Given the description of an element on the screen output the (x, y) to click on. 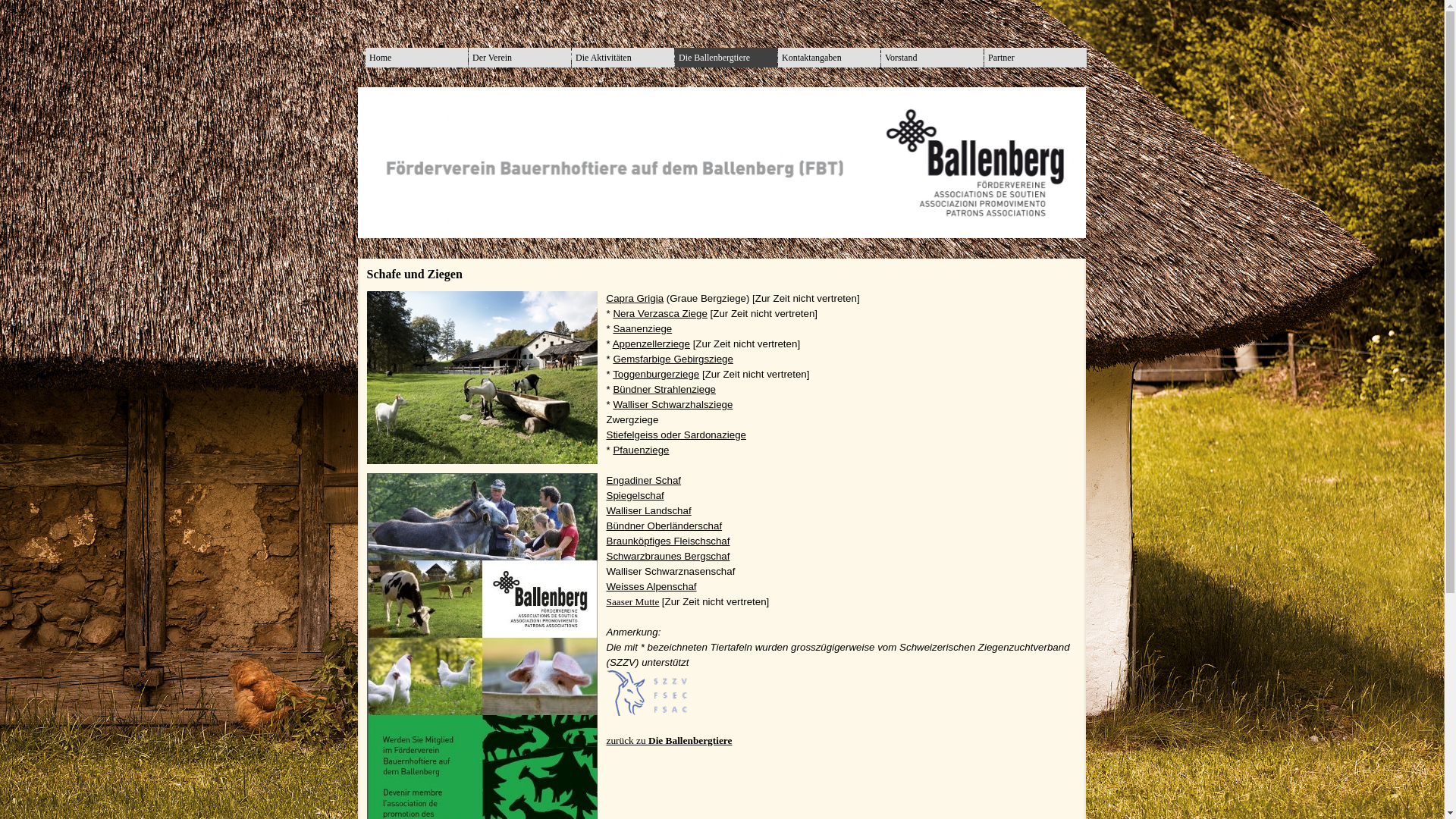
Gemsfarbige Gebirgsziege Element type: text (672, 358)
Pfauenziege Element type: text (640, 449)
Weisses Alpenschaf Element type: text (651, 586)
Engadiner Schaf Element type: text (643, 480)
Spiegelschaf Element type: text (635, 495)
Vorstand Element type: text (931, 57)
Toggenburgerziege Element type: text (655, 373)
Saaser Mutte Element type: text (632, 601)
Kontaktangaben Element type: text (828, 57)
Partner Element type: text (1035, 57)
Home Element type: text (416, 57)
Stiefelgeiss oder Sardonaziege Element type: text (676, 434)
Walliser Schwarzhalsziege Element type: text (672, 404)
Appenzellerziege Element type: text (651, 343)
Walliser Landschaf Element type: text (648, 510)
Capra Grigia Element type: text (635, 298)
Nera Verzasca Ziege Element type: text (659, 313)
Schwarzbraunes Bergschaf Element type: text (668, 555)
Saanenziege Element type: text (641, 328)
